Given the description of an element on the screen output the (x, y) to click on. 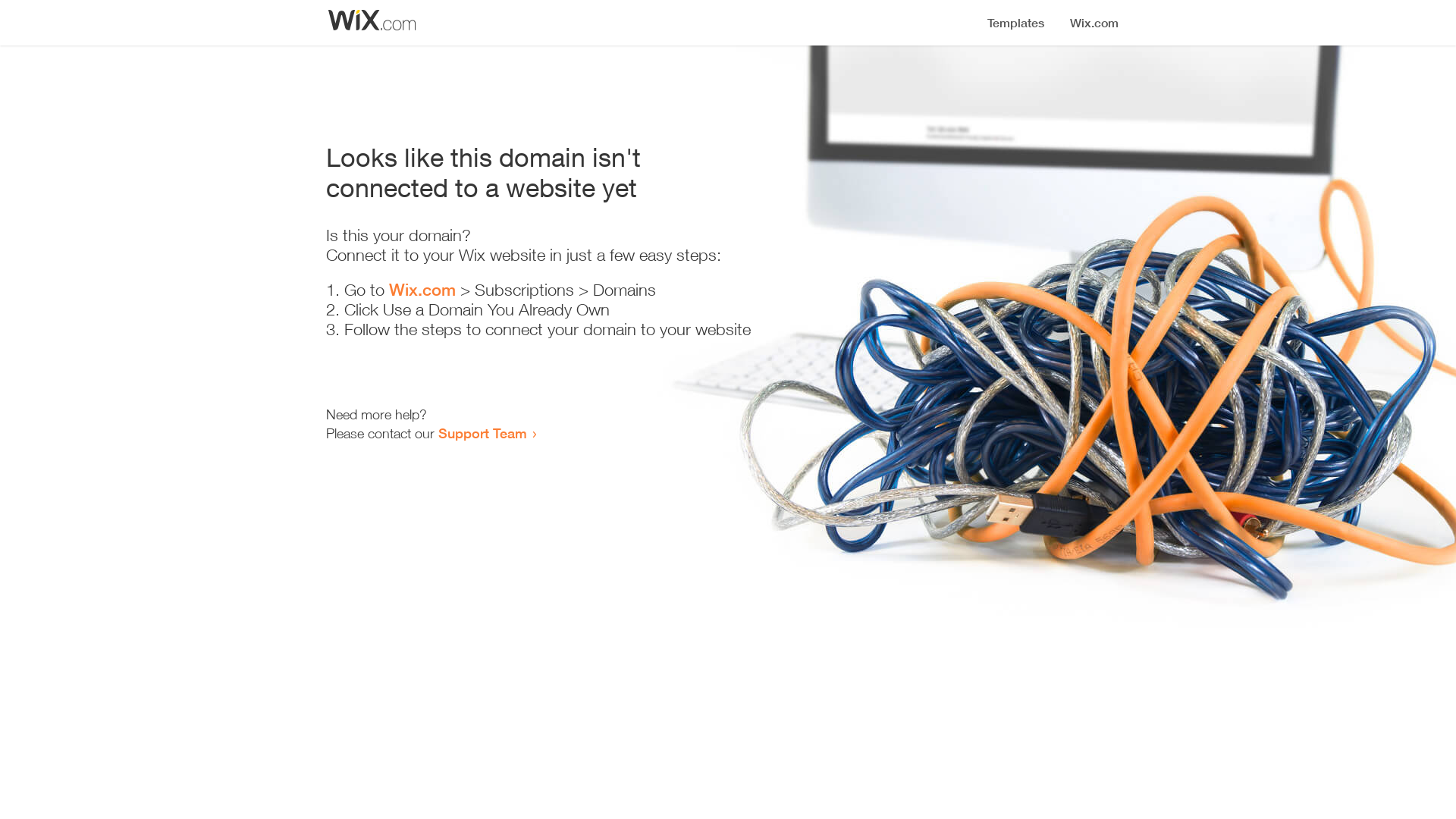
Support Team Element type: text (482, 432)
Wix.com Element type: text (422, 289)
